Given the description of an element on the screen output the (x, y) to click on. 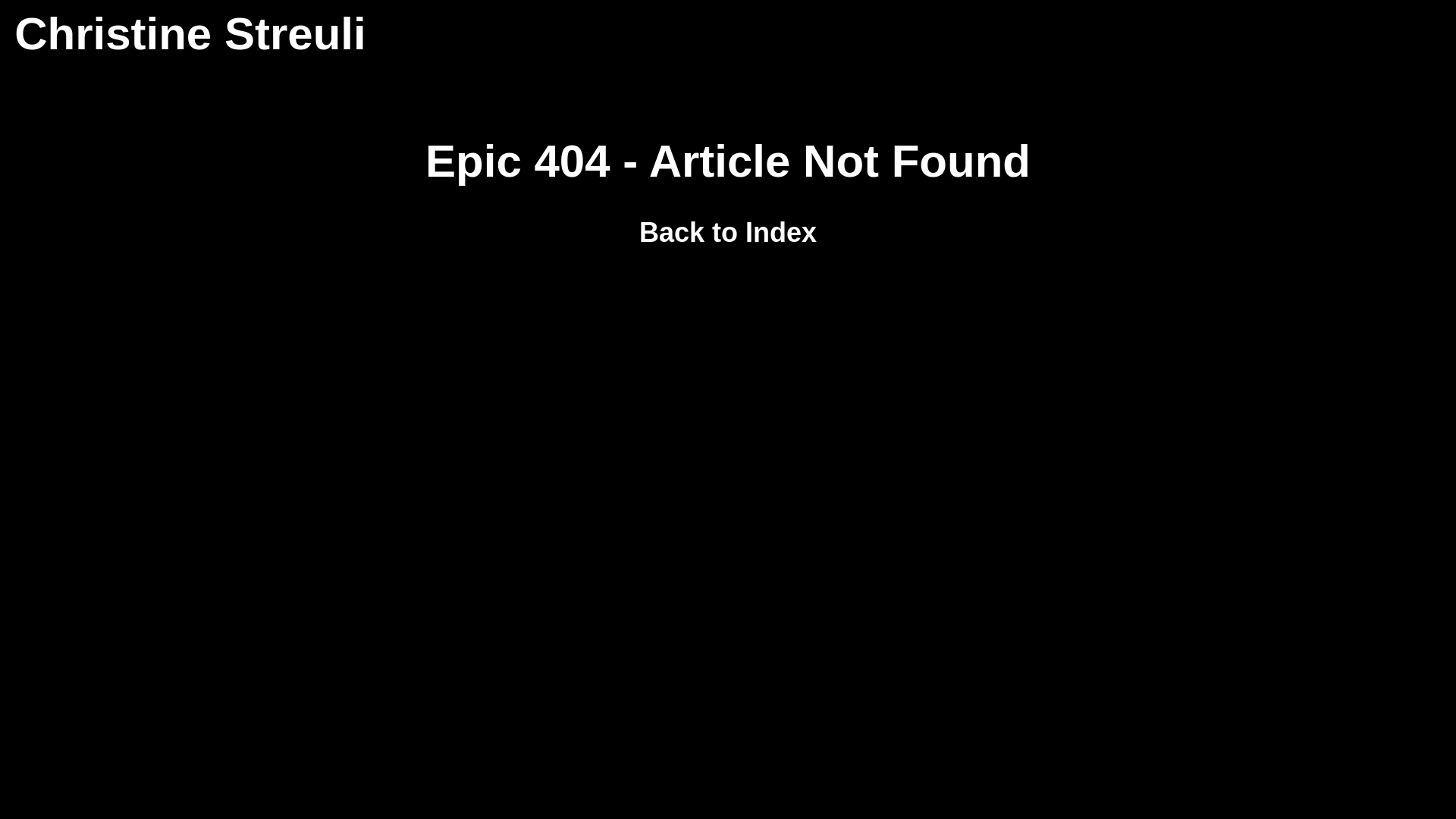
Back to Index Element type: text (727, 232)
Christine Streuli Element type: text (189, 33)
